Given the description of an element on the screen output the (x, y) to click on. 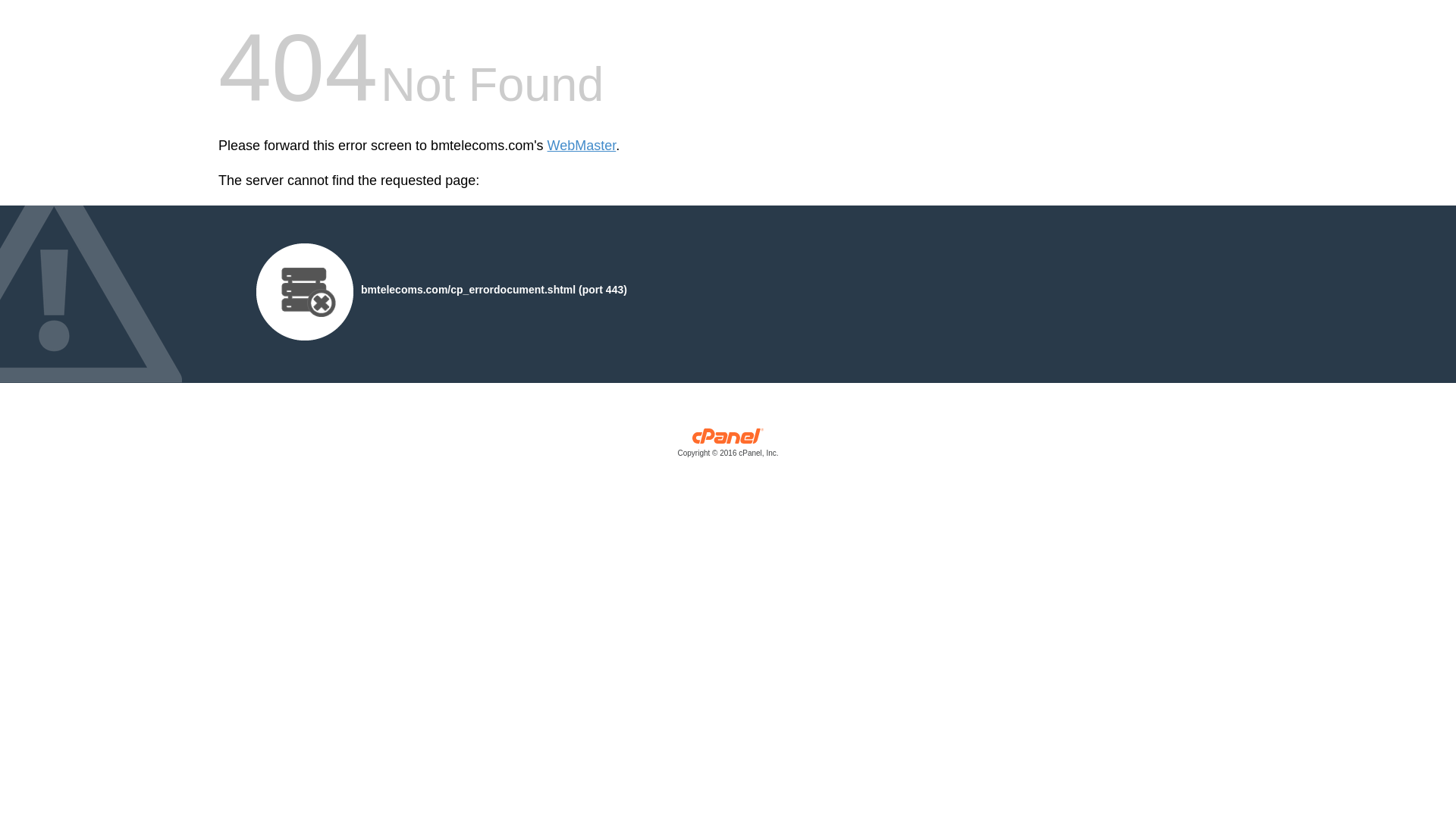
cPanel, Inc. (727, 446)
WebMaster (581, 145)
